Given the description of an element on the screen output the (x, y) to click on. 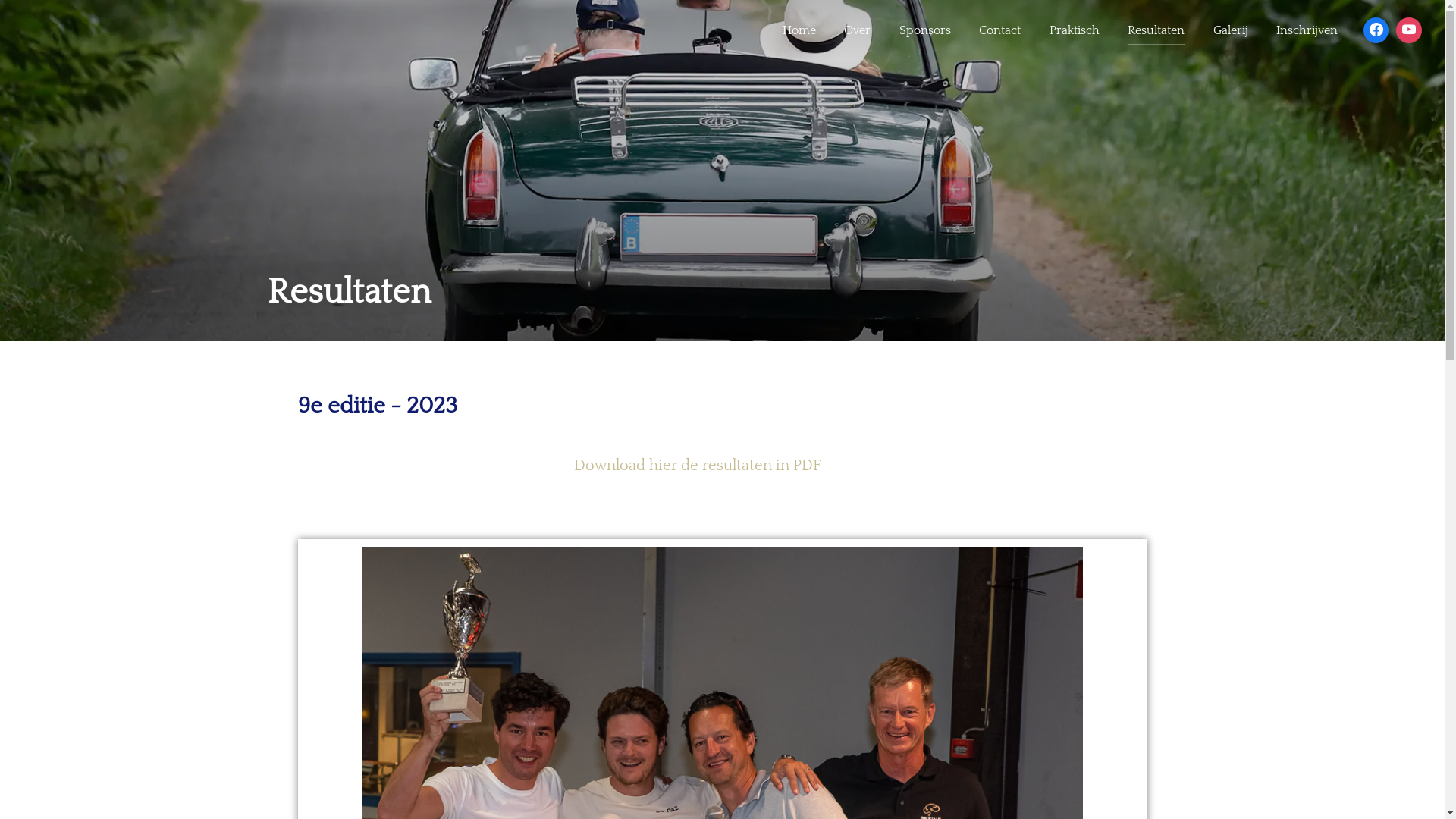
Facebook Element type: hover (1376, 30)
Over Element type: text (857, 29)
Inschrijven Element type: text (1306, 29)
Youtube Element type: hover (1408, 30)
Download hier de resultaten in PDF Element type: text (697, 465)
Contact Element type: text (999, 29)
Home Element type: text (798, 29)
Galerij Element type: text (1230, 29)
Resultaten Element type: text (1155, 29)
Praktisch Element type: text (1074, 29)
Sponsors Element type: text (924, 29)
